Given the description of an element on the screen output the (x, y) to click on. 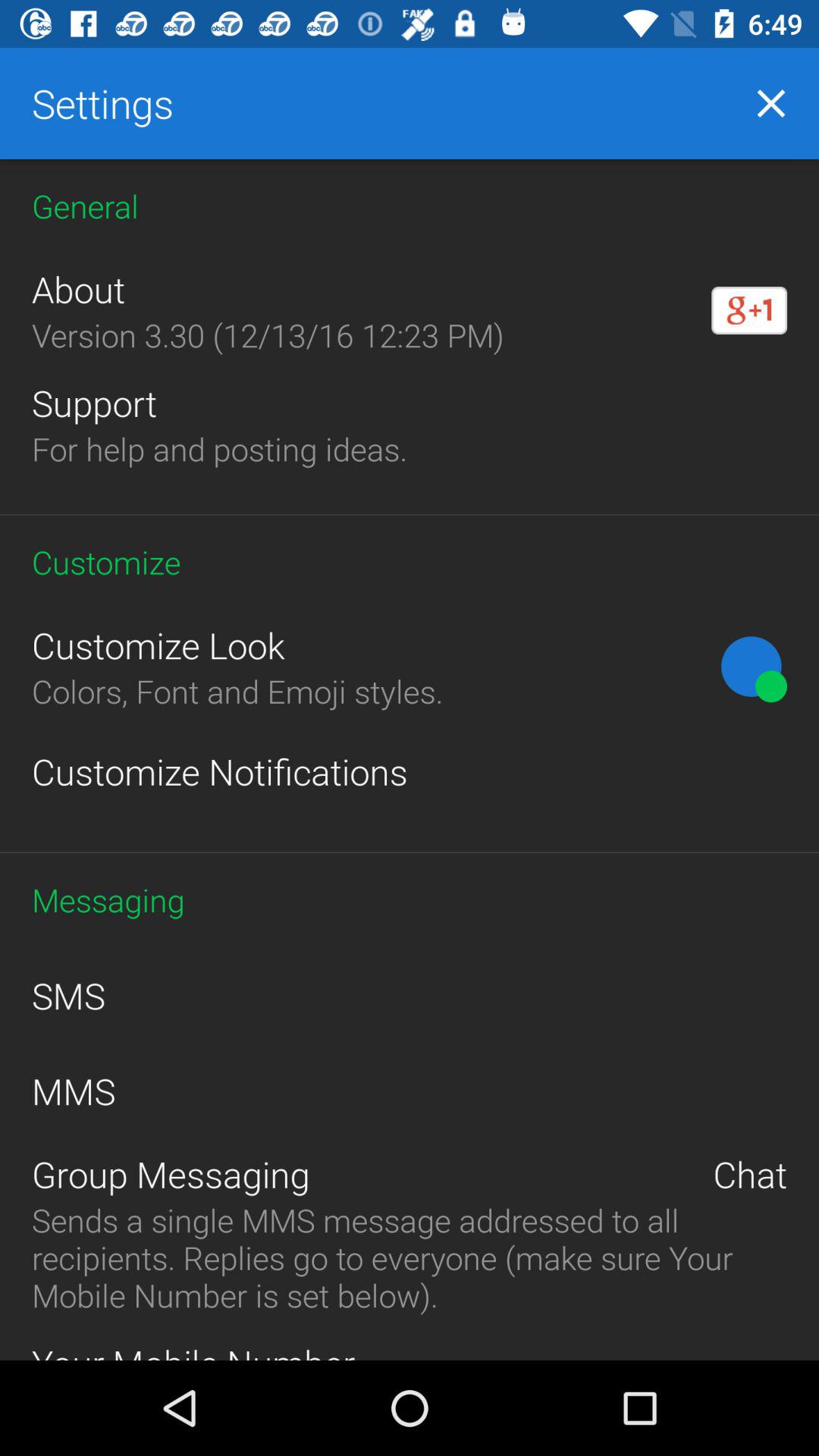
tap item next to settings item (771, 103)
